Given the description of an element on the screen output the (x, y) to click on. 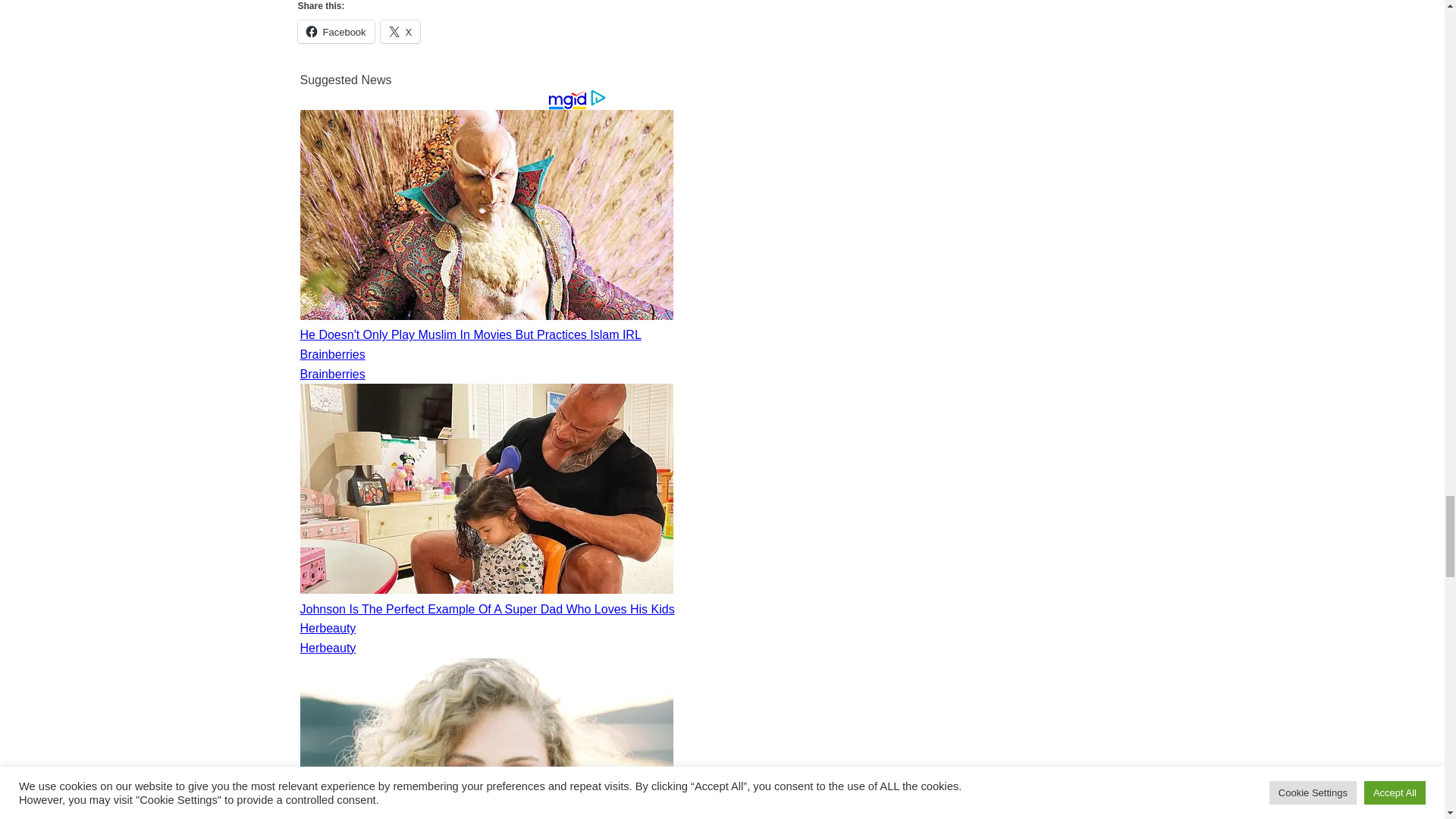
X (400, 31)
Click to share on Facebook (335, 31)
Facebook (335, 31)
Click to share on X (400, 31)
